Given the description of an element on the screen output the (x, y) to click on. 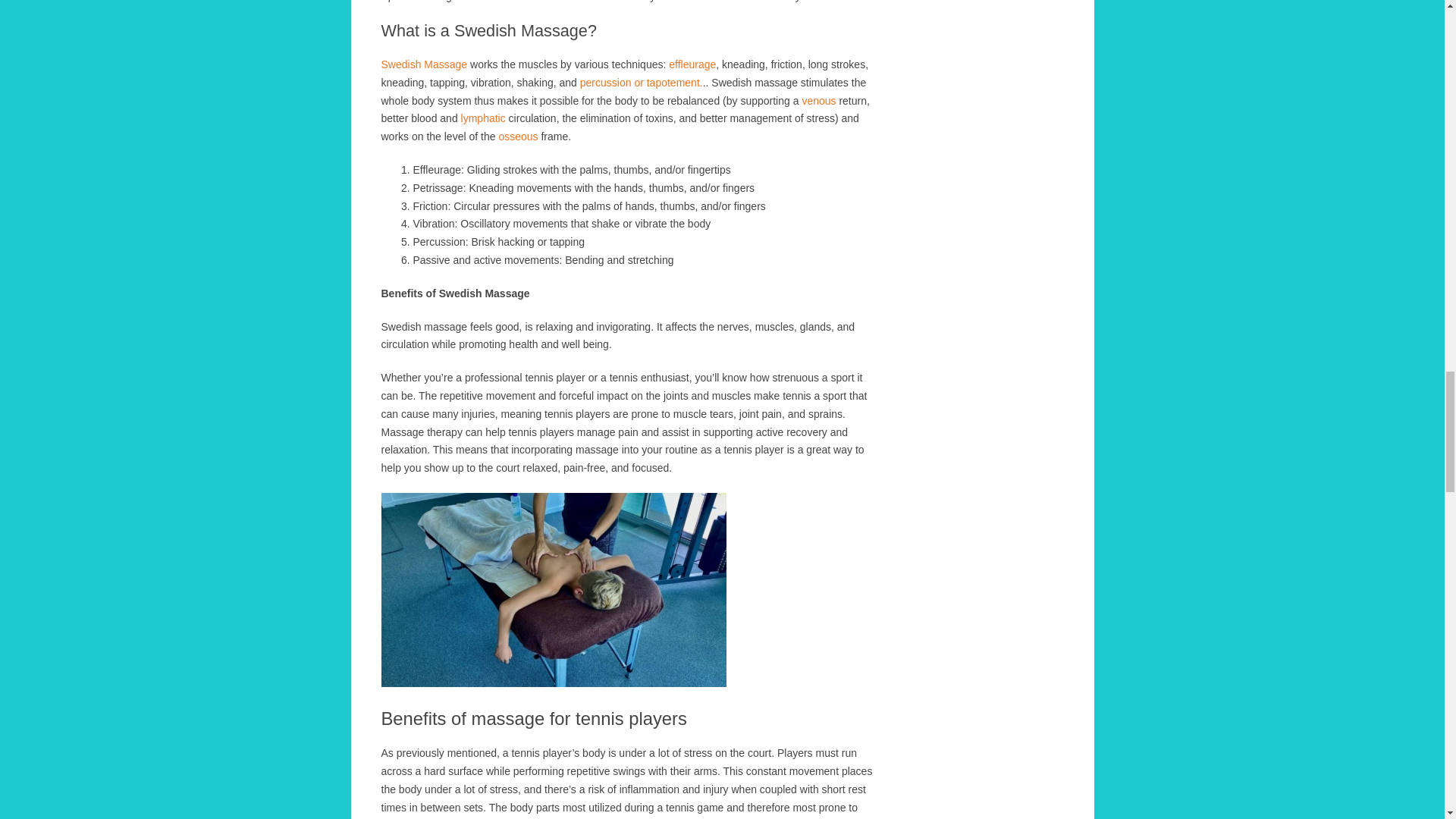
Tapotement  (641, 82)
What is Swedish Massage? (423, 64)
percussion or tapotement. (641, 82)
Effleurage (692, 64)
lymphatic (483, 118)
Swedish Massage (423, 64)
effleurage (692, 64)
venous (820, 101)
osseous (517, 136)
